Given the description of an element on the screen output the (x, y) to click on. 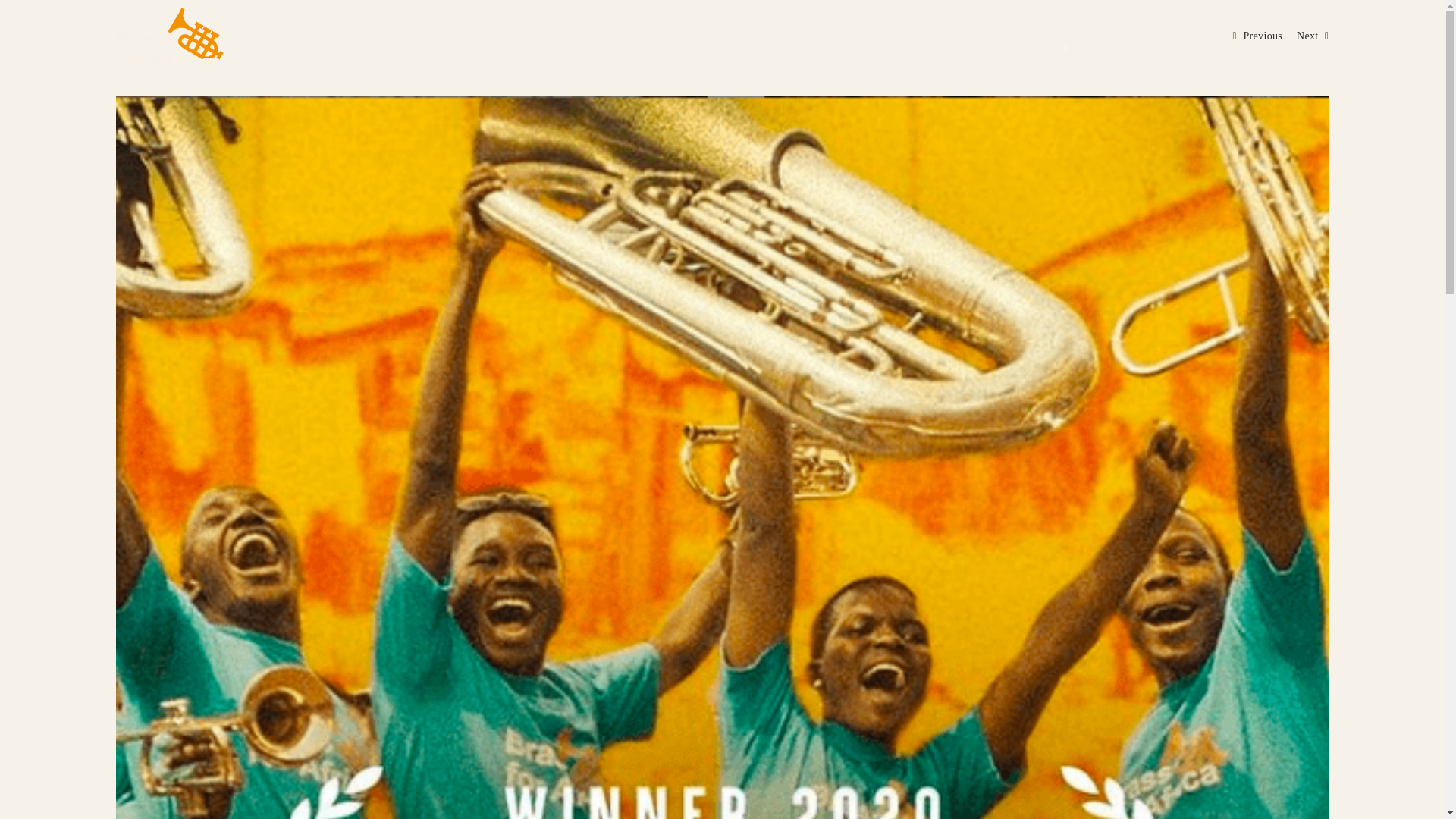
BECOME A MEMBER (1209, 49)
Previous (1262, 36)
GET INVOLVED (1026, 49)
